Given the description of an element on the screen output the (x, y) to click on. 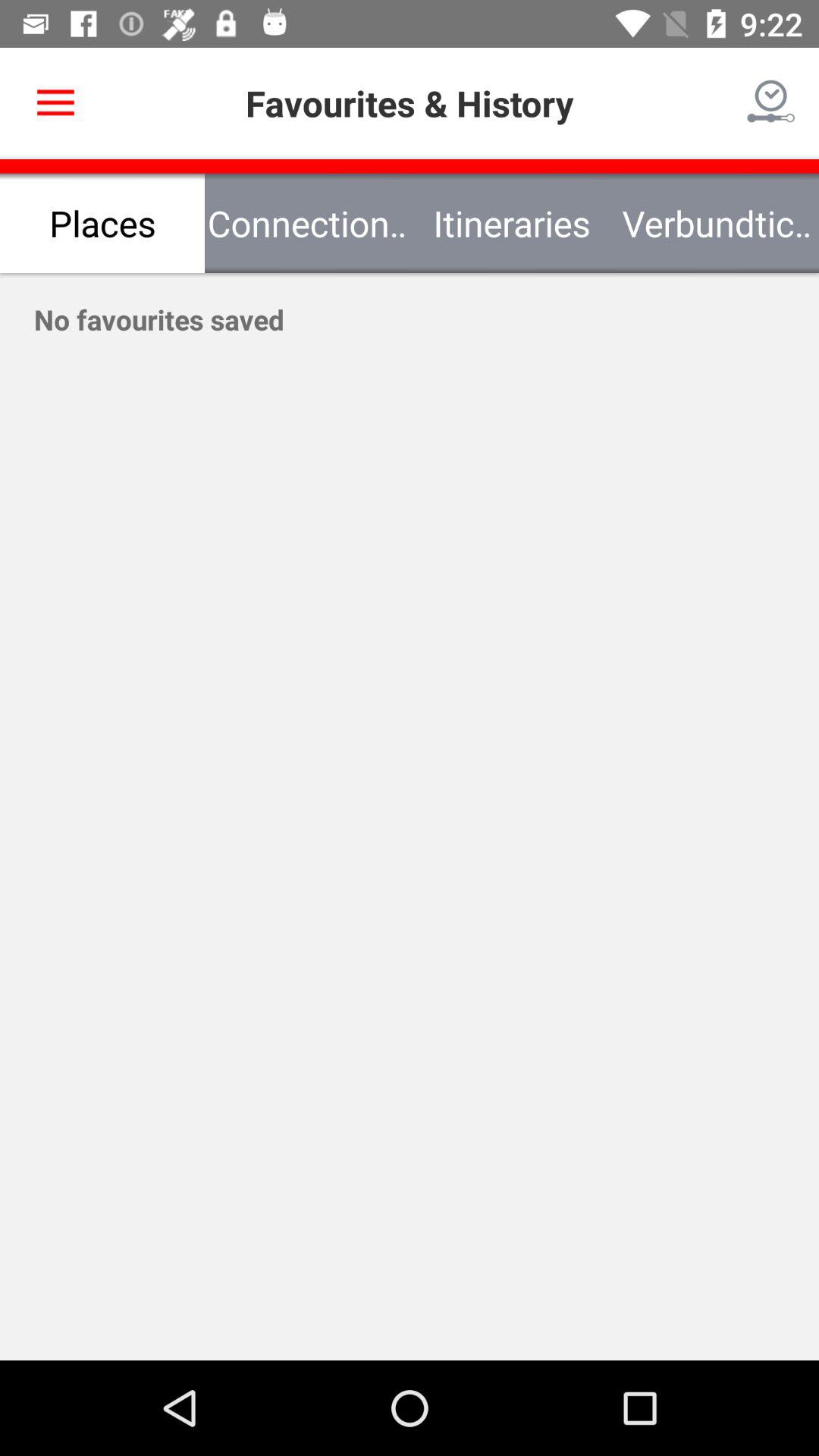
turn off the icon to the left of the connection requests item (102, 223)
